Given the description of an element on the screen output the (x, y) to click on. 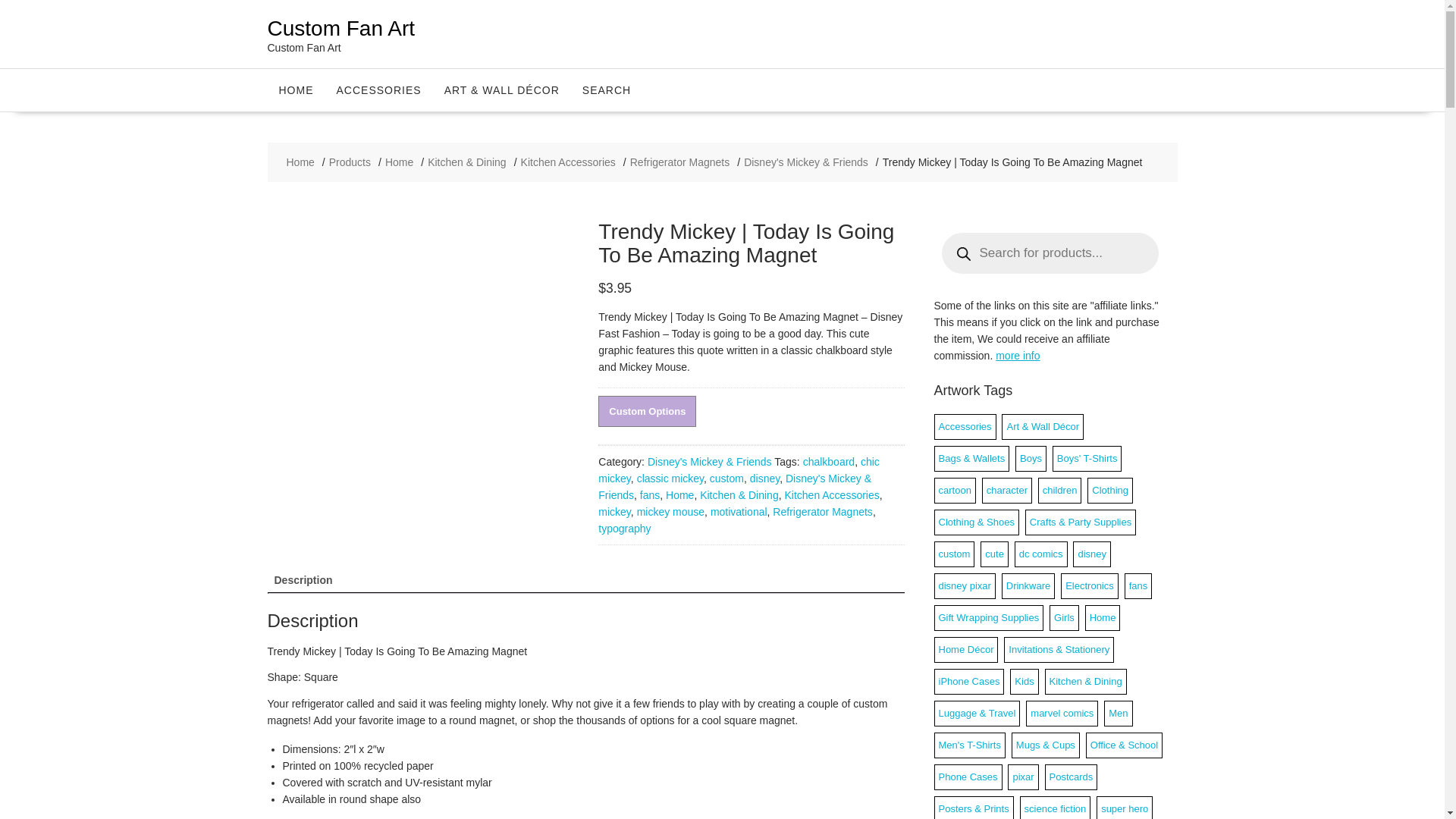
Home (399, 161)
ACCESSORIES (378, 89)
Kitchen Accessories (568, 161)
SEARCH (606, 89)
HOME (295, 89)
Home (300, 161)
Products (350, 161)
Refrigerator Magnets (680, 161)
Custom Fan Art (340, 28)
